Given the description of an element on the screen output the (x, y) to click on. 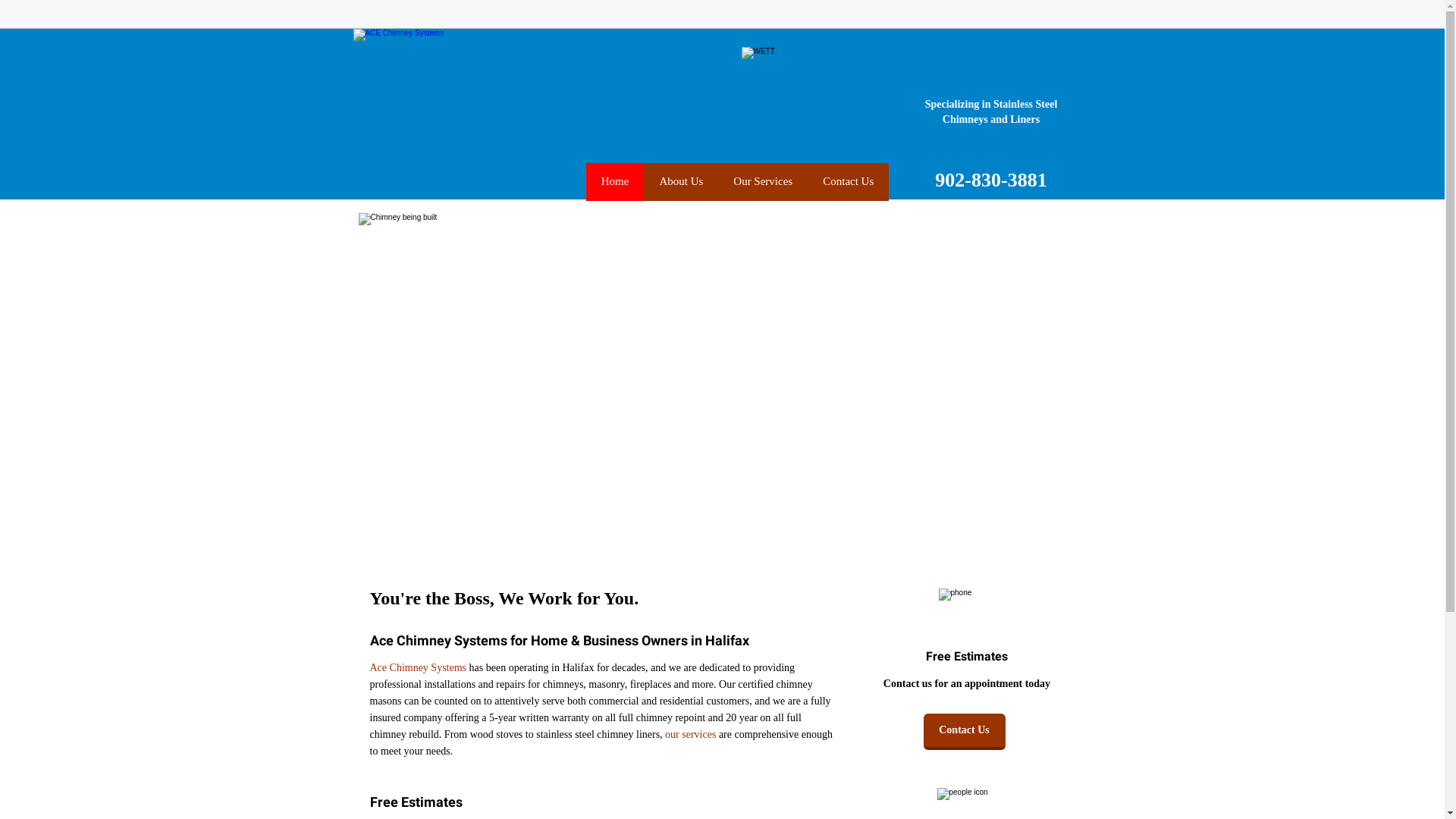
Home Element type: text (615, 181)
About Us Element type: text (680, 181)
Embedded Content Element type: hover (935, 16)
our services Element type: text (690, 735)
Embedded Content Element type: hover (1063, 19)
902-830-3881 Element type: text (990, 183)
Our Services Element type: text (762, 181)
Ace Chimney Systems Element type: text (418, 668)
Contact Us Element type: text (964, 731)
Contact Us Element type: text (847, 181)
